Given the description of an element on the screen output the (x, y) to click on. 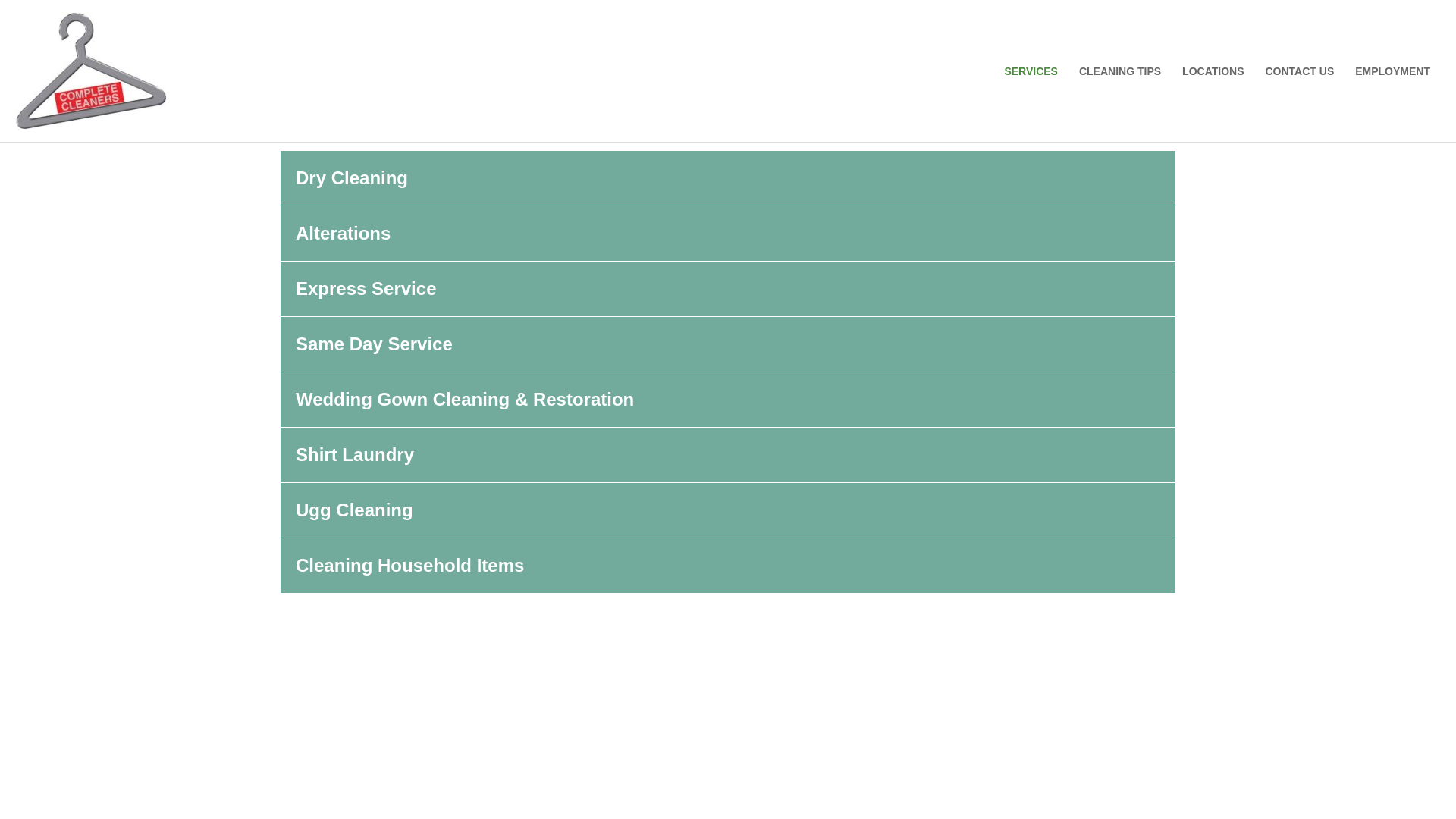
Shirt Laundry (354, 454)
CONTACT US (1298, 70)
Cleaning Household Items (409, 565)
CLEANING TIPS (1120, 70)
Dry Cleaning (351, 177)
Express Service (365, 288)
Ugg Cleaning (354, 509)
LOCATIONS (1212, 70)
SERVICES (1030, 70)
Same Day Service (373, 343)
